Given the description of an element on the screen output the (x, y) to click on. 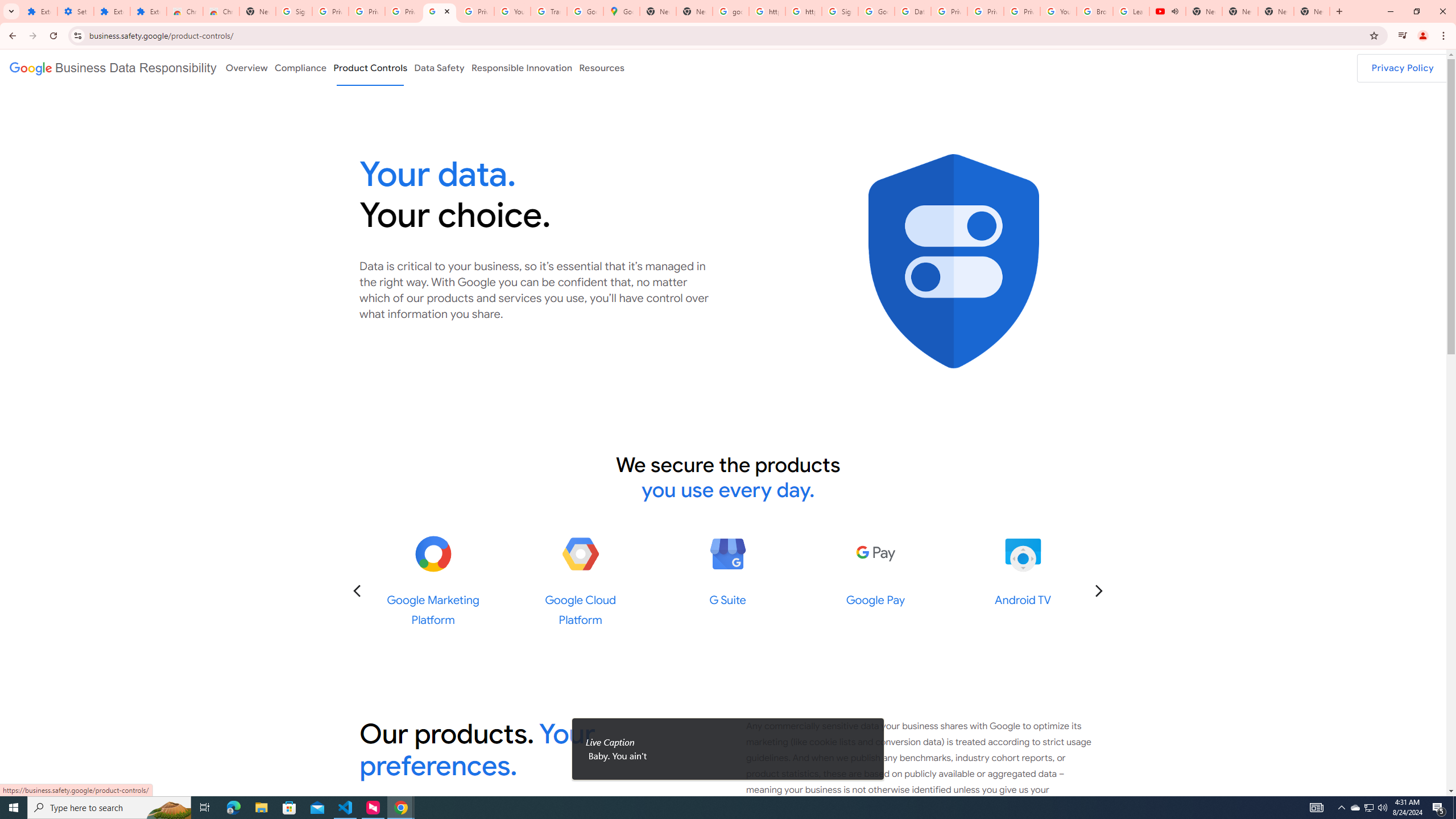
Google Marketing Platform Google Marketing Platform (432, 580)
Google Cloud Platform (579, 554)
Chrome Web Store - Themes (221, 11)
Privacy Help Center - Policies Help (985, 11)
Browse Chrome as a guest - Computer - Google Chrome Help (1094, 11)
Extensions (39, 11)
Responsible Innovation (521, 67)
Android TV Android TV (1022, 570)
Mute tab (1174, 10)
